Given the description of an element on the screen output the (x, y) to click on. 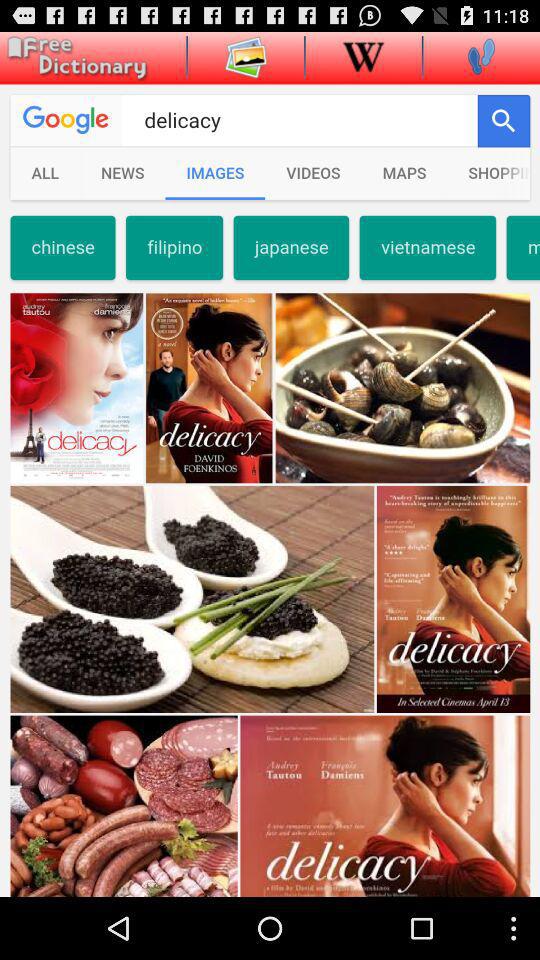
go to advertisement (74, 58)
